Given the description of an element on the screen output the (x, y) to click on. 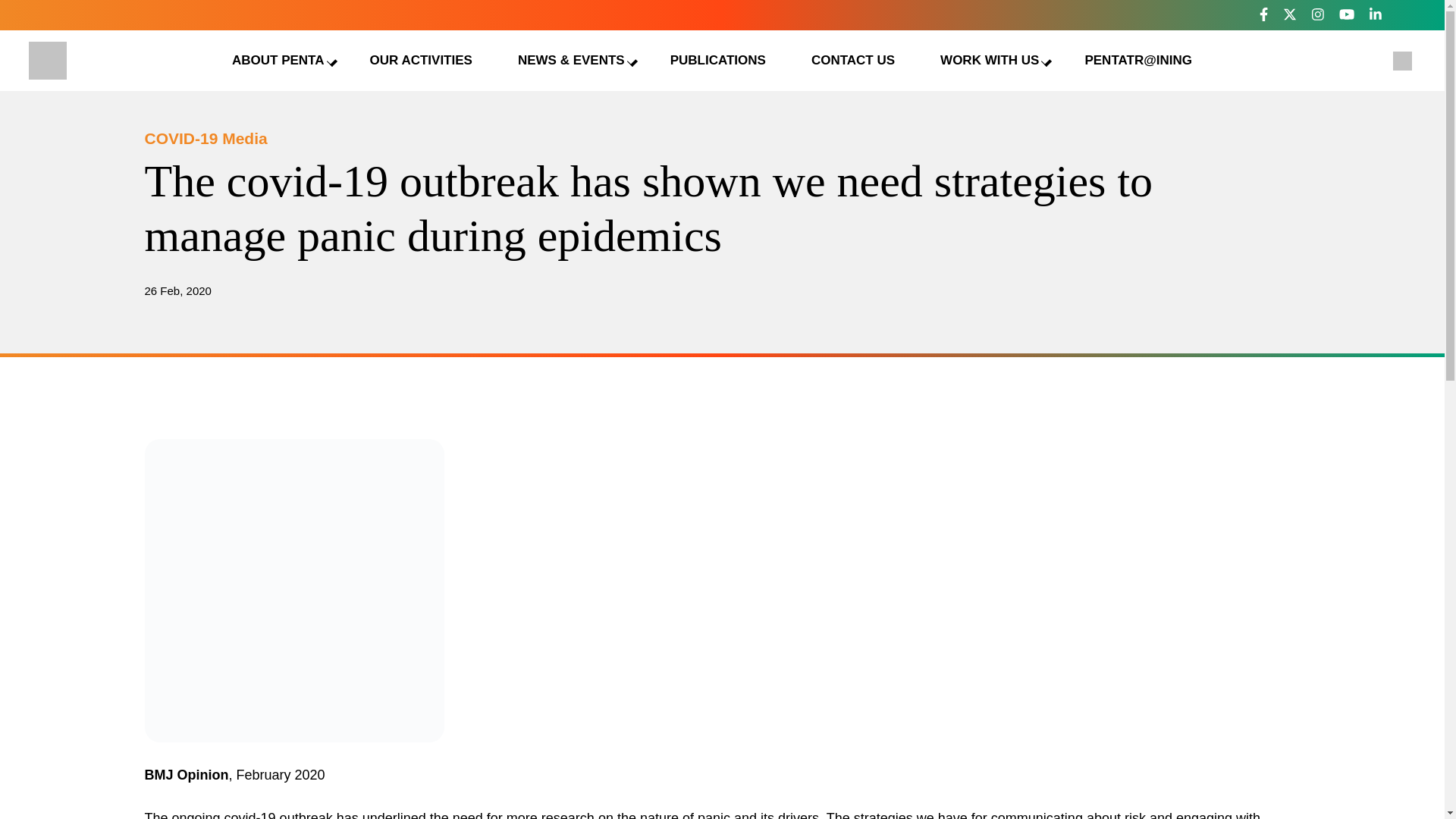
OUR ACTIVITIES (420, 59)
PUBLICATIONS (718, 59)
COVID-19 Media (205, 138)
ABOUT PENTA (278, 59)
WORK WITH US (988, 59)
CONTACT US (852, 59)
